Given the description of an element on the screen output the (x, y) to click on. 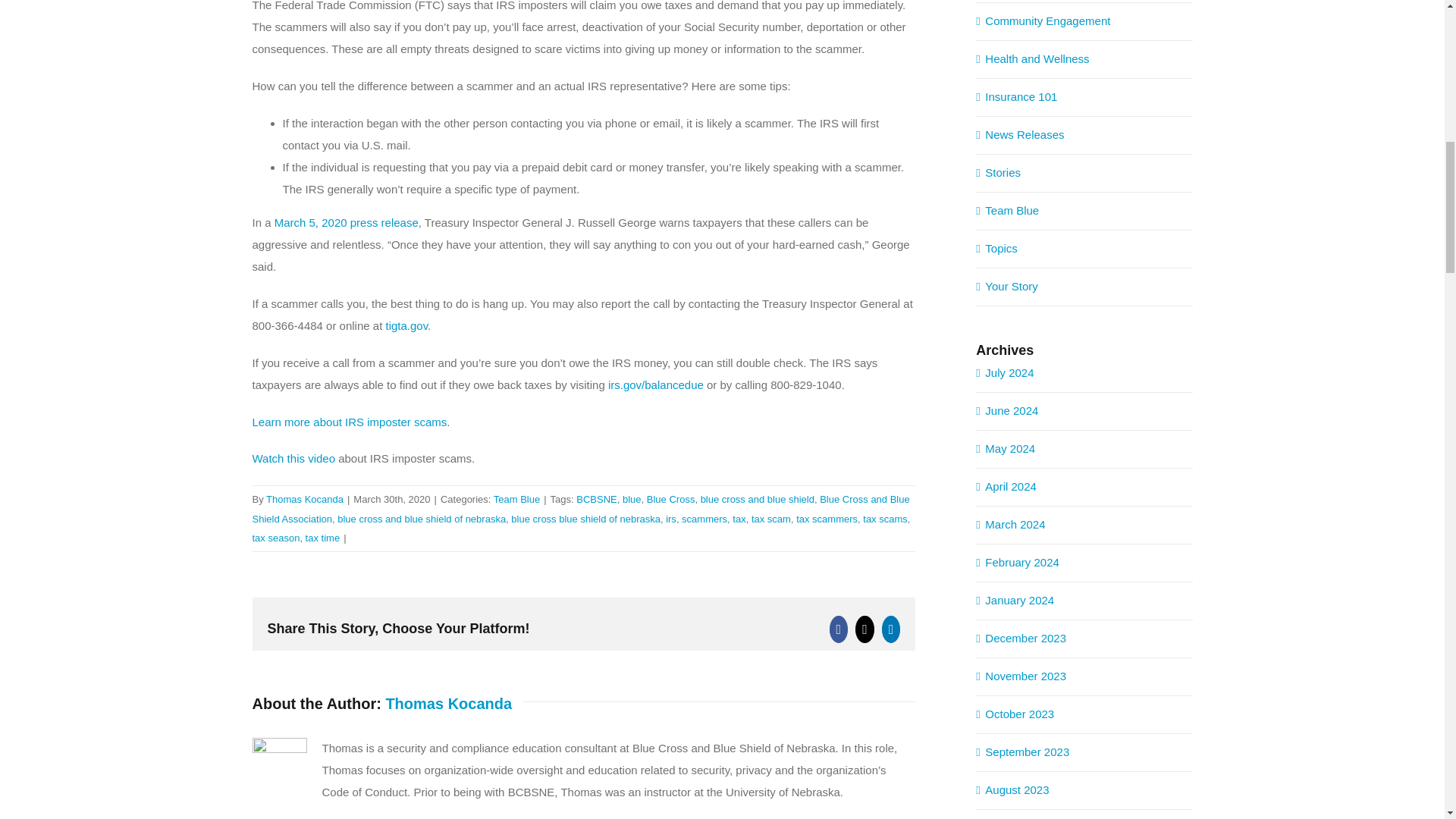
blue (632, 499)
blue cross blue shield of nebraska (586, 518)
Team Blue (516, 499)
Watch this video (292, 458)
Posts by Thomas Kocanda (448, 703)
March 5, 2020 press release (347, 222)
BCBSNE (595, 499)
tigta.gov (406, 325)
tax (738, 518)
blue cross and blue shield (756, 499)
Blue Cross (670, 499)
tax season (275, 537)
Blue Cross and Blue Shield Association (579, 508)
Thomas Kocanda (304, 499)
scammers (703, 518)
